Given the description of an element on the screen output the (x, y) to click on. 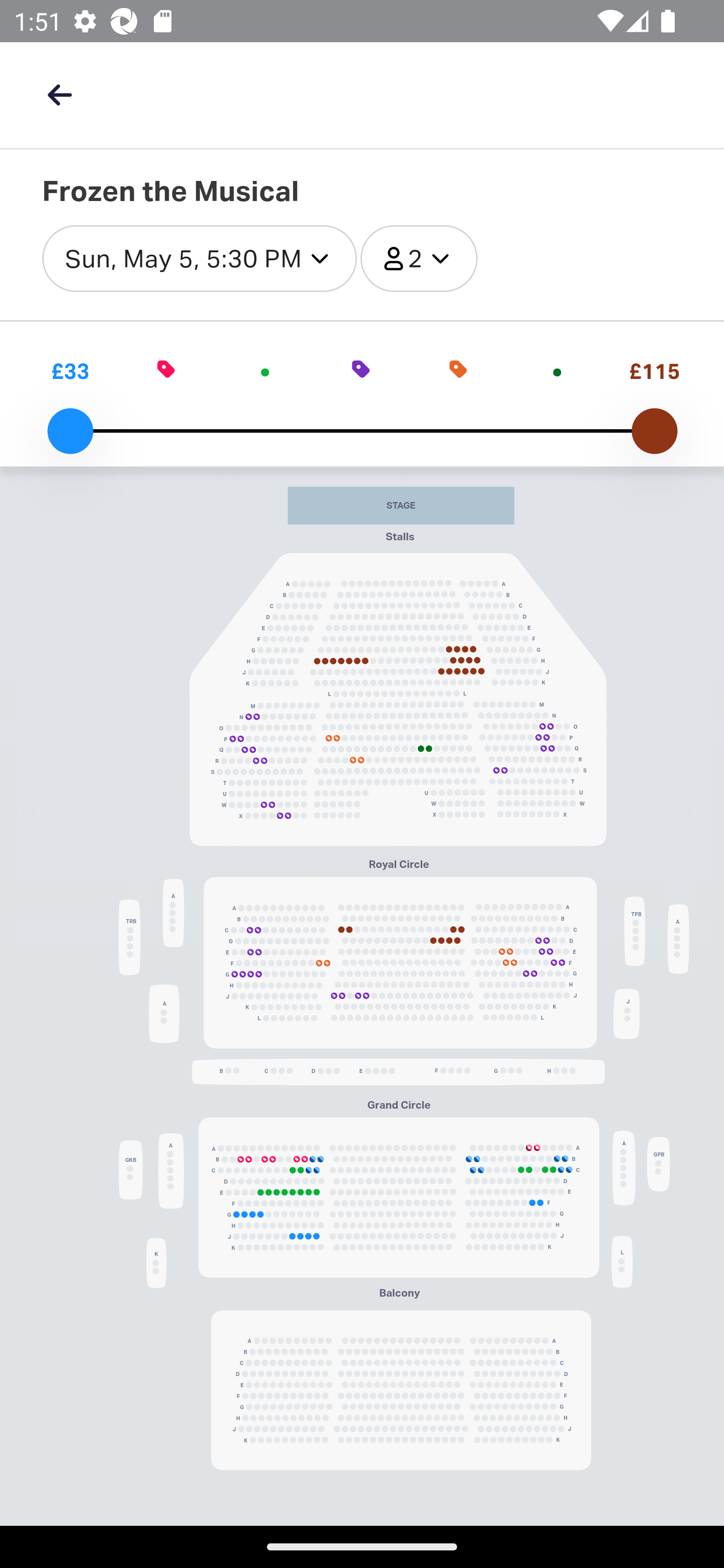
back button (59, 94)
Sun, May 5, 5:30 PM (198, 259)
2 (418, 259)
£33 (70, 370)
• (264, 370)
• (556, 370)
£115 (653, 370)
0.0 (69, 431)
100.0 (654, 431)
A B C D E F G H J K L A B C D E F G H J K L (399, 963)
A (173, 913)
TPB (633, 931)
TRB (128, 937)
A (677, 938)
A (164, 1013)
J (626, 1012)
H G F E D C B (397, 1070)
A B C D E F G H J K A B C D E F G H J K (397, 1197)
A (624, 1167)
A (170, 1171)
GPB (657, 1164)
GKB (130, 1170)
L (621, 1261)
K (156, 1262)
A B C D E F G H J K A B C D E F G H J K (400, 1389)
